Given the description of an element on the screen output the (x, y) to click on. 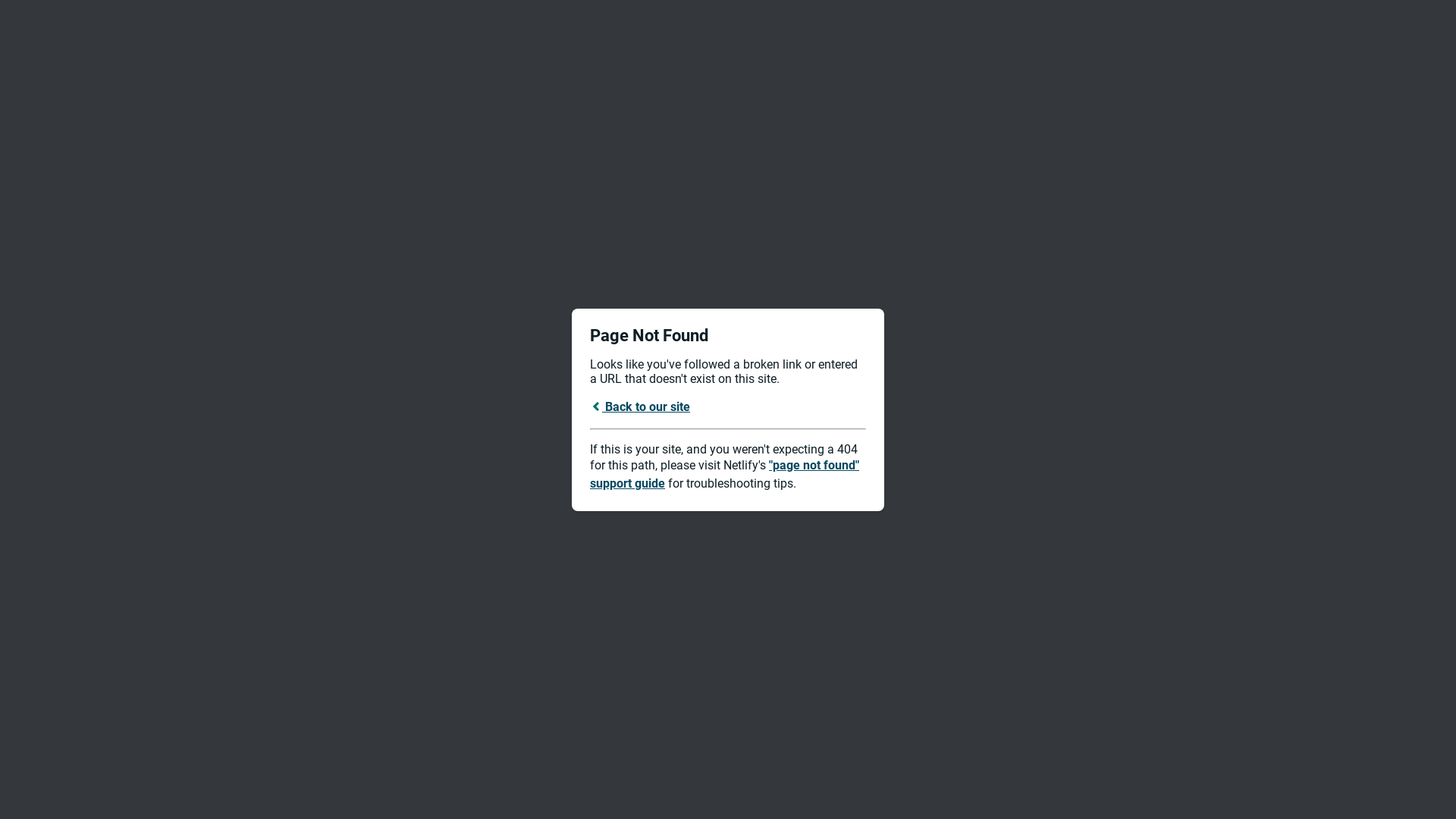
"page not found" support guide Element type: text (724, 474)
Back to our site Element type: text (639, 405)
